Given the description of an element on the screen output the (x, y) to click on. 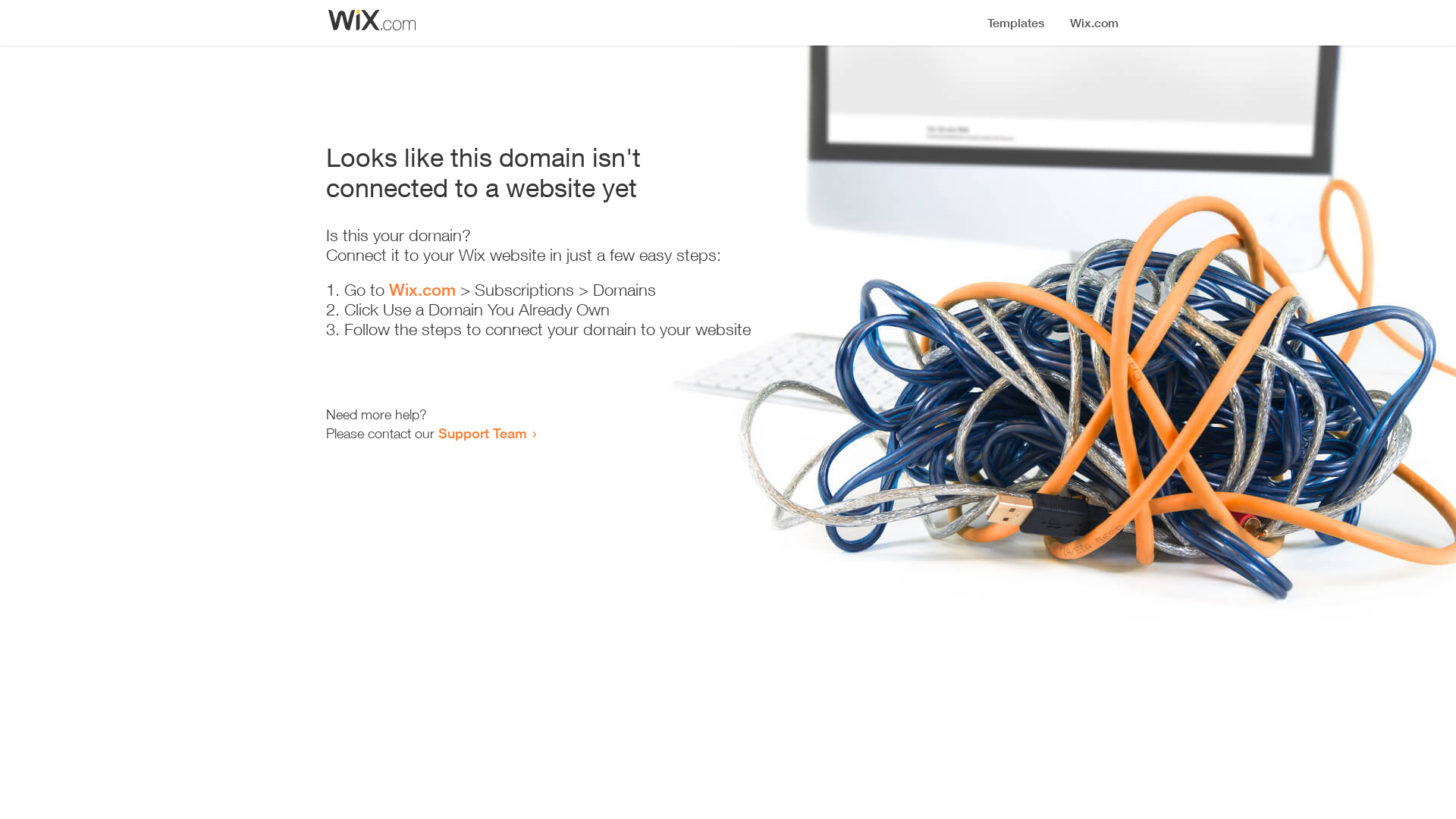
Support Team Element type: text (482, 432)
Wix.com Element type: text (422, 289)
